Given the description of an element on the screen output the (x, y) to click on. 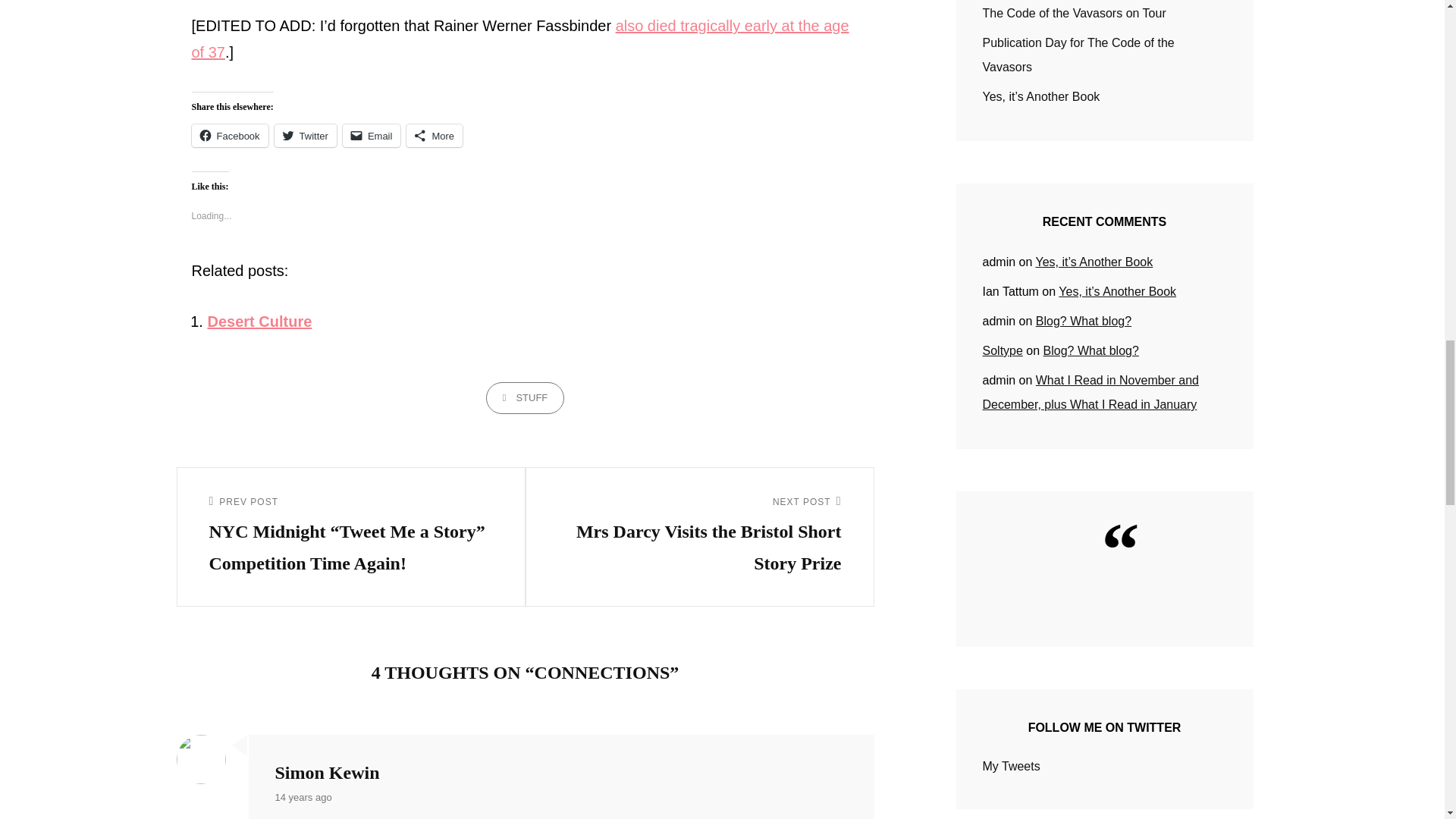
Desert Culture (260, 321)
Click to share on Facebook (228, 135)
Click to share on Twitter (305, 135)
Click to email a link to a friend (371, 135)
